Given the description of an element on the screen output the (x, y) to click on. 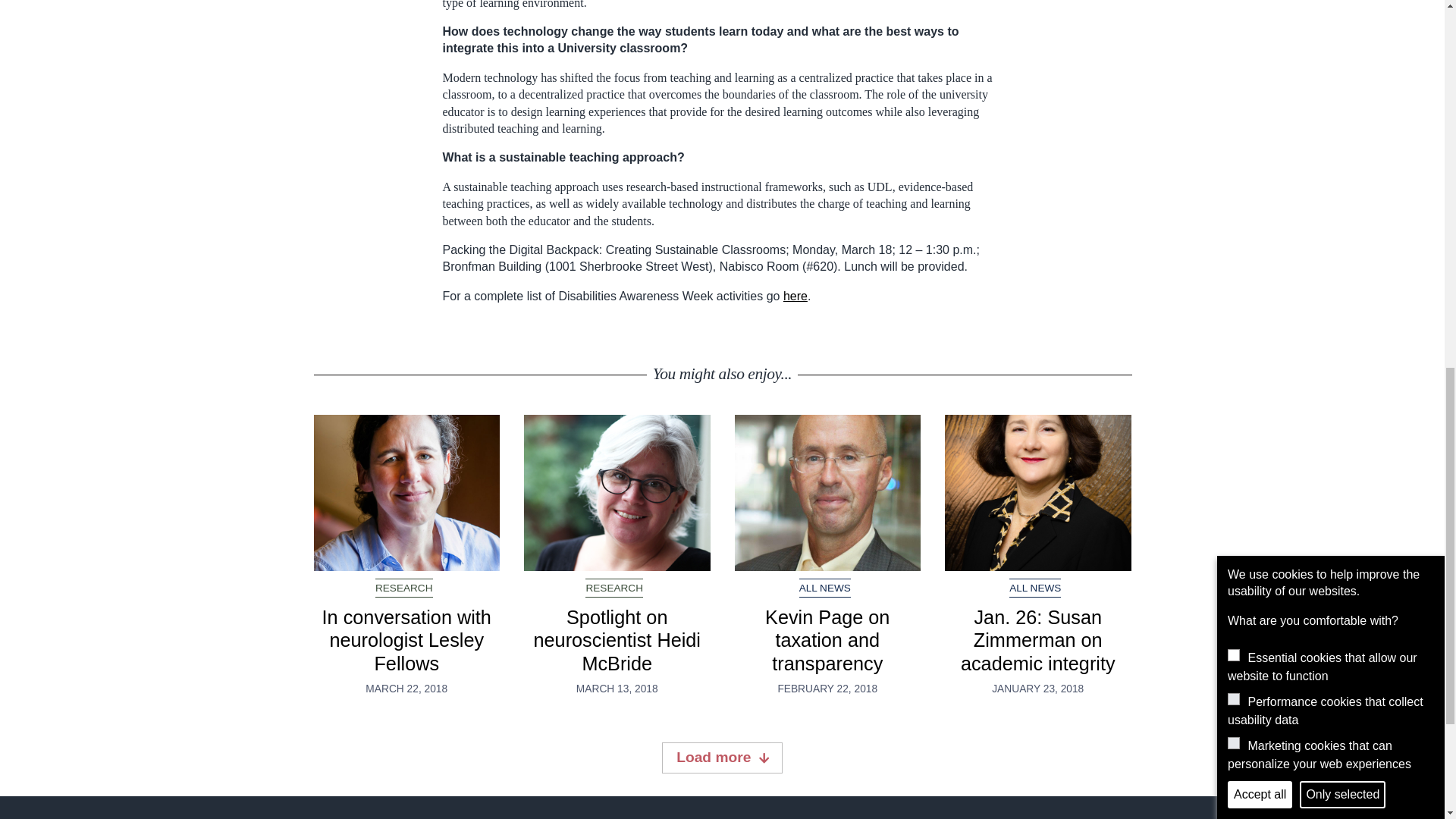
Jan. 26: Susan Zimmerman on academic integrity (1037, 640)
RESEARCH (403, 587)
In conversation with neurologist Lesley Fellows (407, 492)
Jan. 26: Susan Zimmerman on academic integrity (1037, 492)
RESEARCH (614, 587)
Kevin Page on taxation and transparency (826, 492)
Spotlight on neuroscientist Heidi McBride (617, 640)
ALL NEWS (1035, 587)
here (795, 295)
Load more (722, 757)
In conversation with neurologist Lesley Fellows (406, 640)
Spotlight on neuroscientist Heidi McBride (617, 492)
ALL NEWS (824, 587)
Kevin Page on taxation and transparency (827, 640)
